Given the description of an element on the screen output the (x, y) to click on. 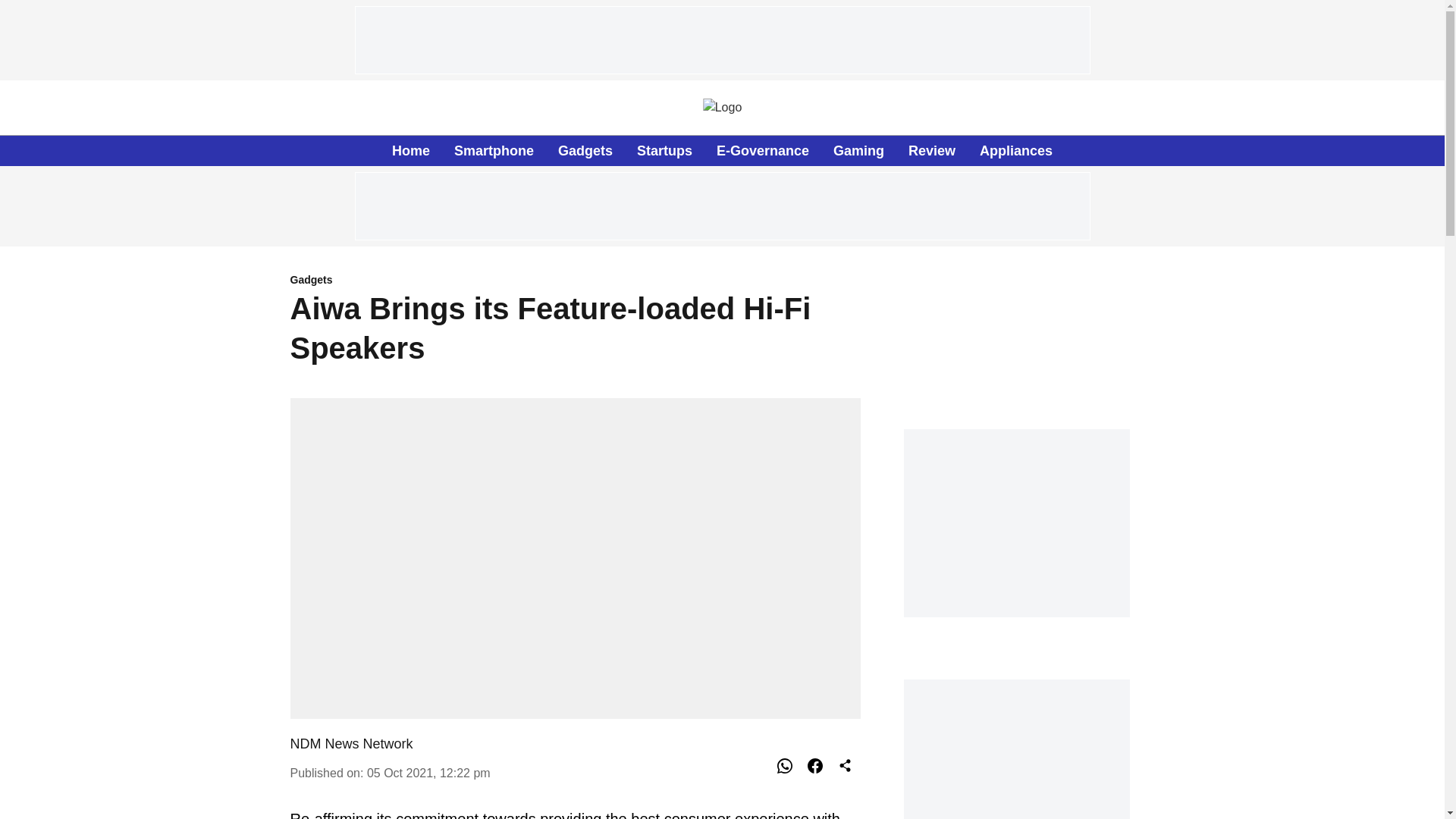
NDM News Network (350, 743)
Review (931, 150)
Gadgets (584, 150)
Gadgets (574, 280)
E-Governance (762, 150)
Smartphone (494, 150)
Home (410, 150)
Appliances (1015, 150)
Startups (665, 150)
